Given the description of an element on the screen output the (x, y) to click on. 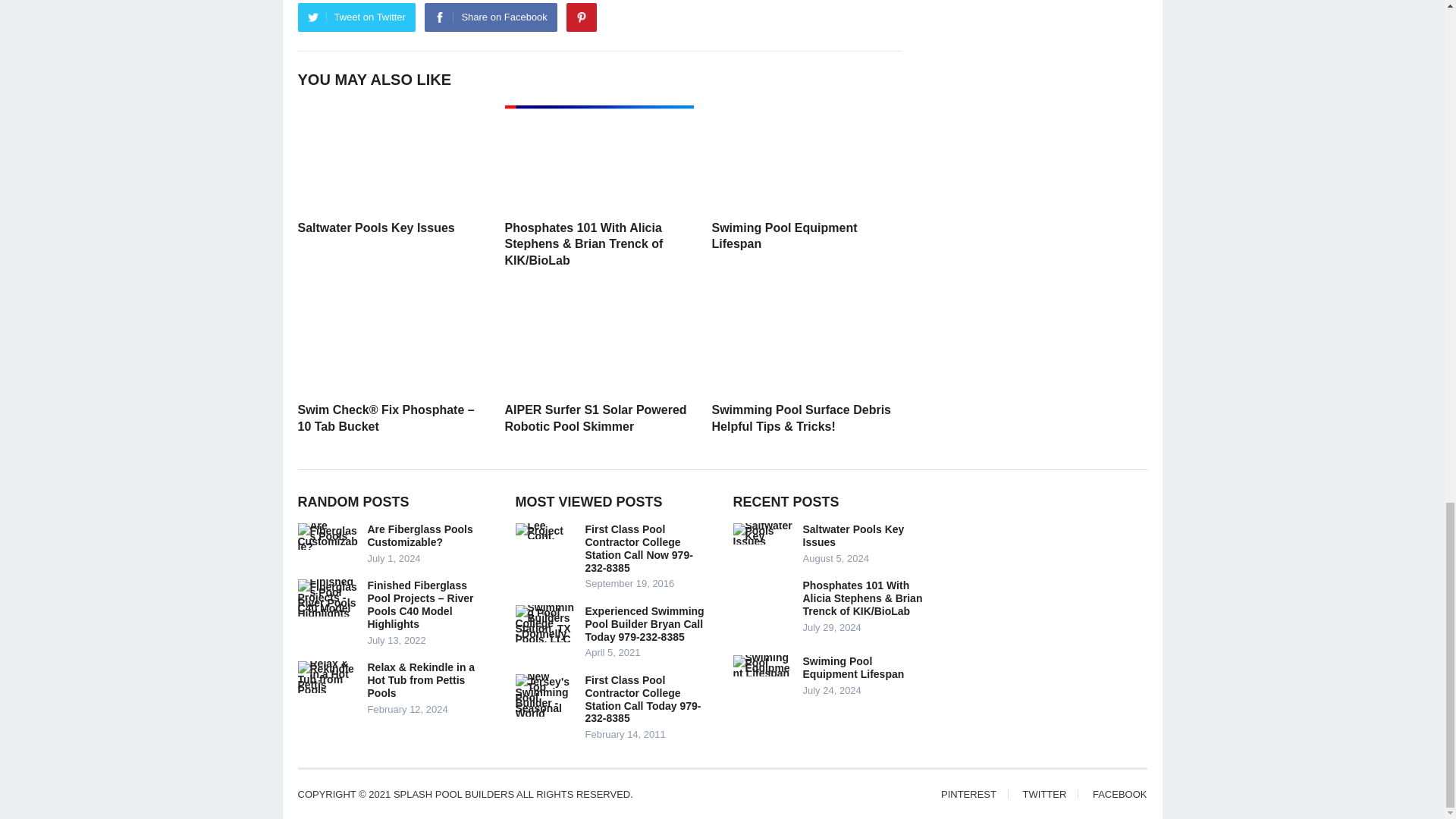
AIPER Surfer S1 Solar Powered Robotic Pool Skimmer 10 (599, 340)
Saltwater Pools Key Issues 2 (391, 157)
Swiming Pool Equipment Lifespan 6 (805, 157)
